Given the description of an element on the screen output the (x, y) to click on. 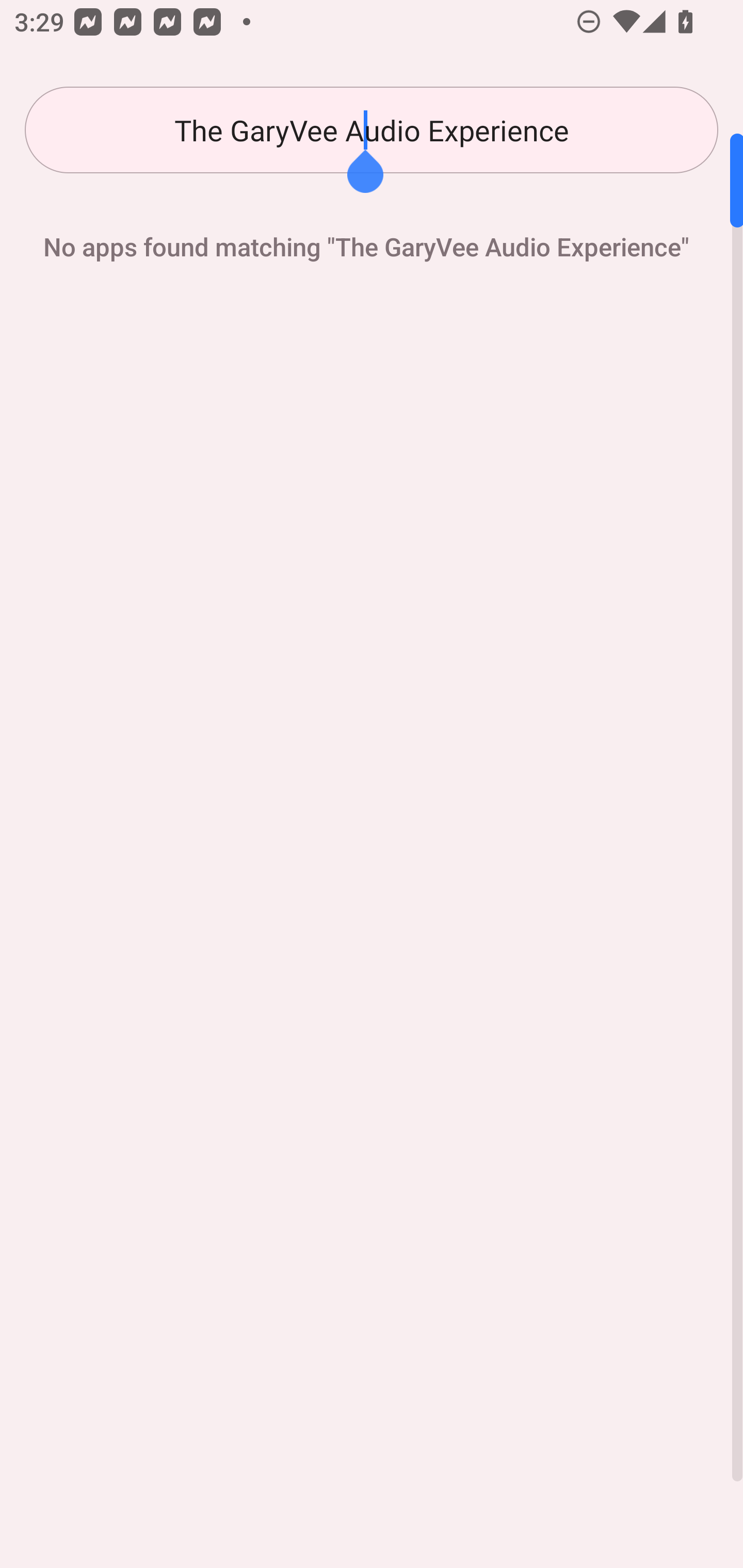
The GaryVee Audio Experience (371, 130)
